Given the description of an element on the screen output the (x, y) to click on. 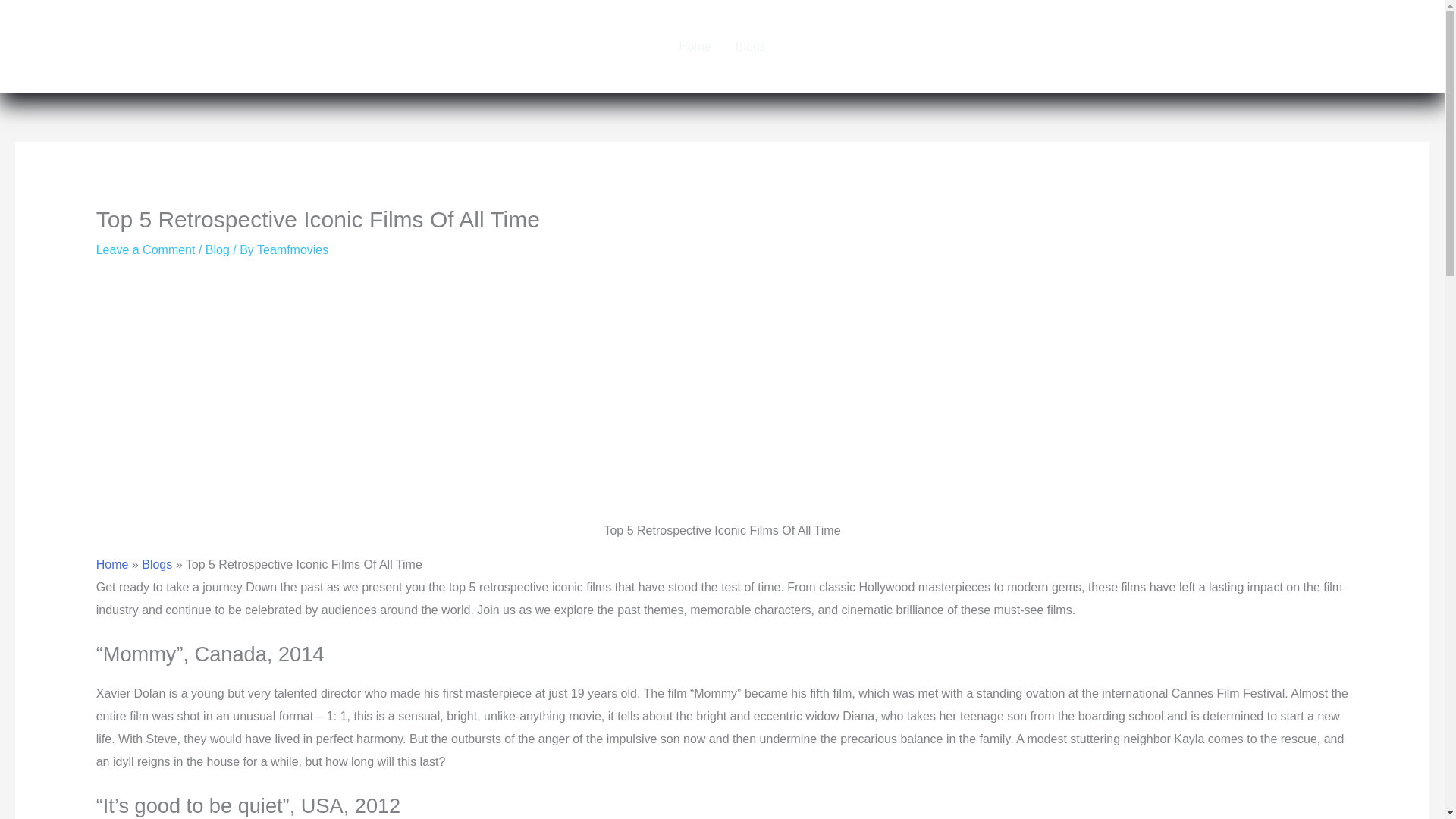
Blog (217, 249)
Home (112, 563)
Home (694, 45)
Blogs (750, 45)
Leave a Comment (145, 249)
Teamfmovies (293, 249)
View all posts by Teamfmovies (293, 249)
Blogs (156, 563)
